Given the description of an element on the screen output the (x, y) to click on. 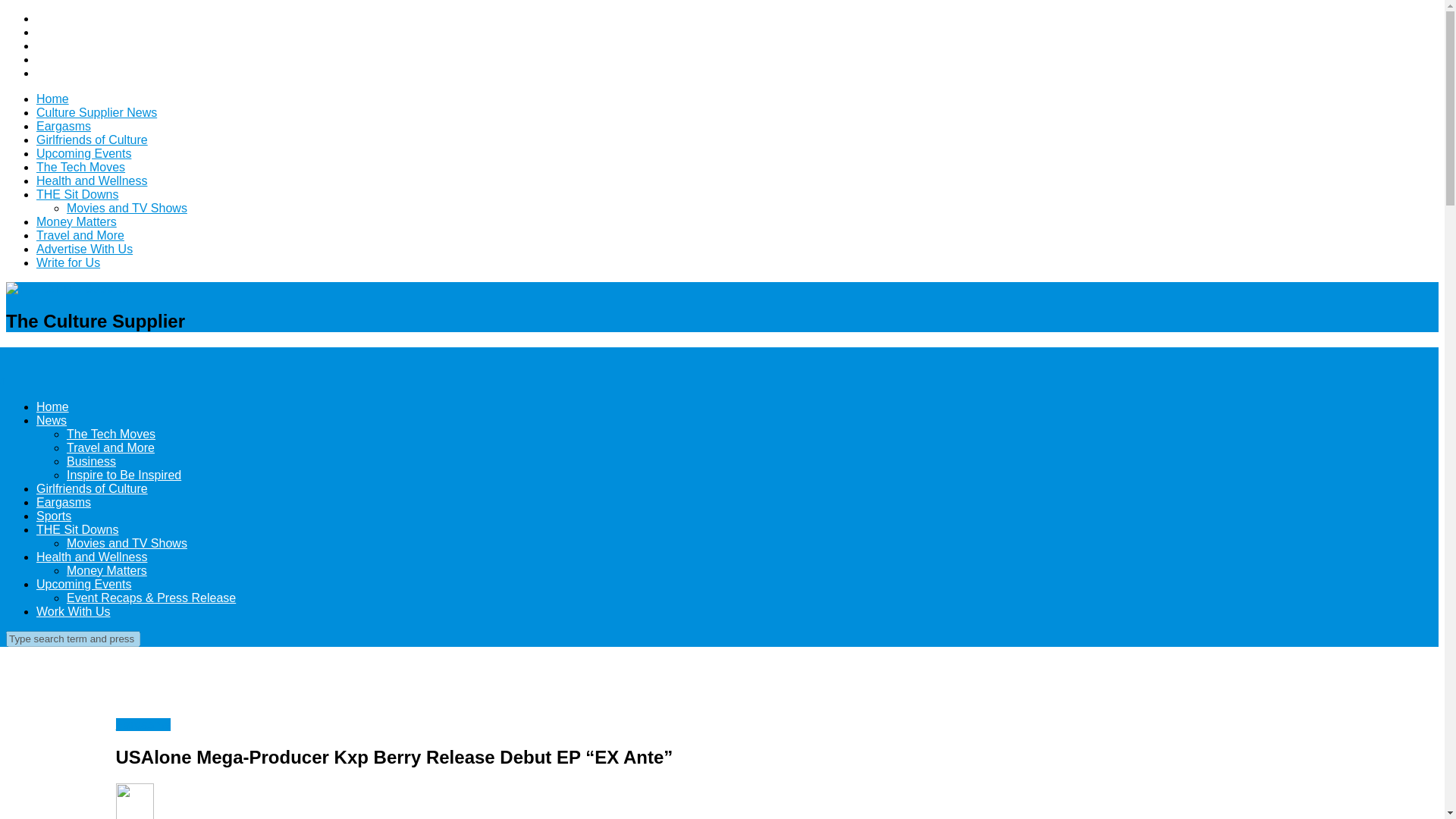
Home (52, 98)
THE Sit Downs (76, 194)
News (51, 420)
Home (52, 406)
Travel and More (110, 447)
Advertise With Us (84, 248)
Movies and TV Shows (126, 543)
Write for Us (68, 262)
Sports (53, 515)
The Tech Moves (80, 166)
Eargasms (63, 125)
Inspire to Be Inspired (123, 474)
Girlfriends of Culture (92, 488)
Health and Wellness (91, 180)
Health and Wellness (91, 556)
